Given the description of an element on the screen output the (x, y) to click on. 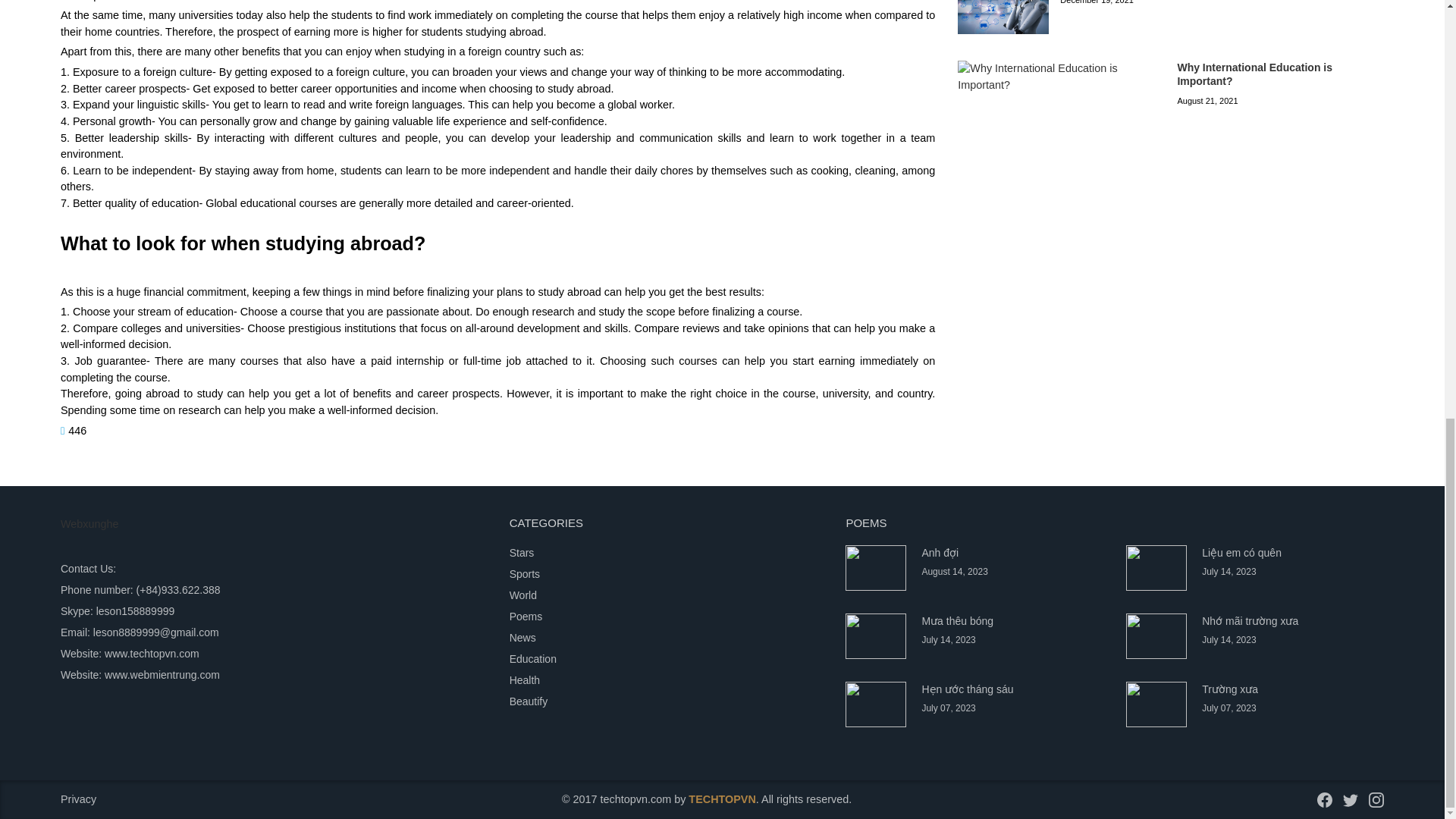
leson158889999 (133, 611)
Webxunghe (90, 523)
AI argues for and against itself in Oxford Union debate (1003, 17)
www.webmientrung.com (161, 674)
Why International Education is Important? (1254, 73)
www.techtopvn.com (151, 653)
